Given the description of an element on the screen output the (x, y) to click on. 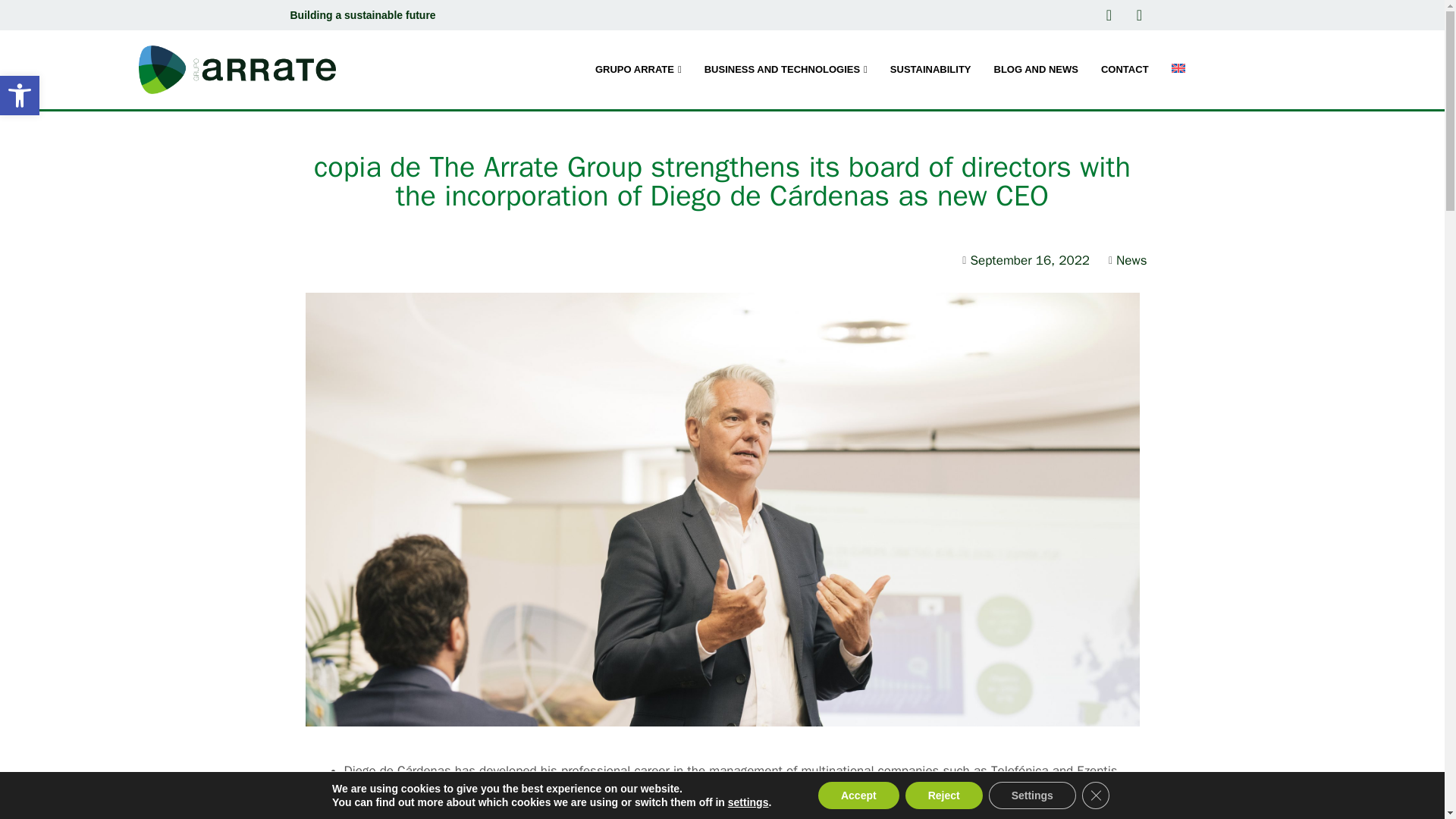
BUSINESS AND TECHNOLOGIES (786, 69)
CONTACT (1124, 69)
GRUPO ARRATE (638, 69)
BLOG AND NEWS (1035, 69)
Accessibility Tools (19, 95)
SUSTAINABILITY (930, 69)
Accessibility Tools (19, 95)
